Given the description of an element on the screen output the (x, y) to click on. 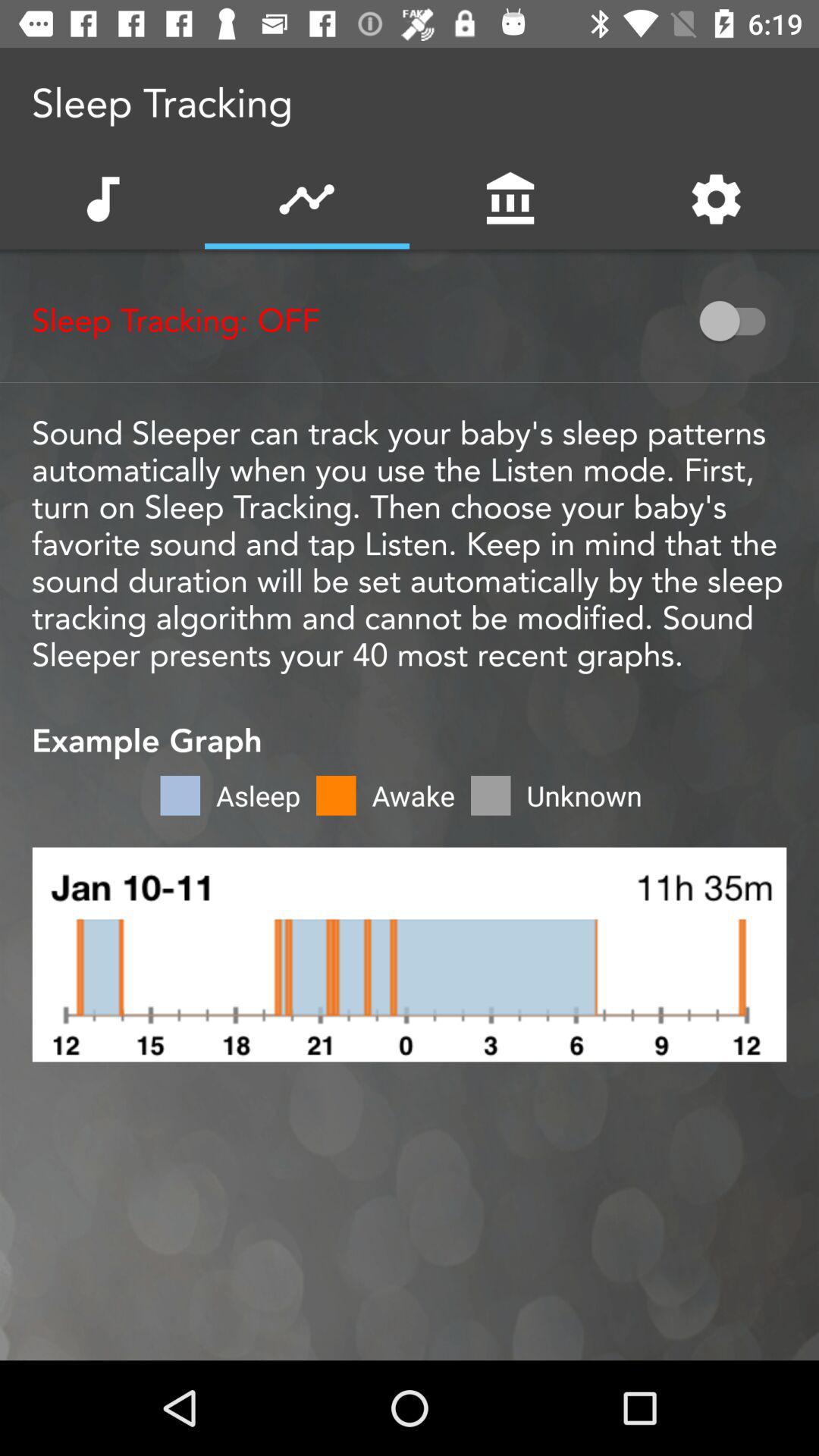
choose item above sound sleeper can icon (739, 321)
